Given the description of an element on the screen output the (x, y) to click on. 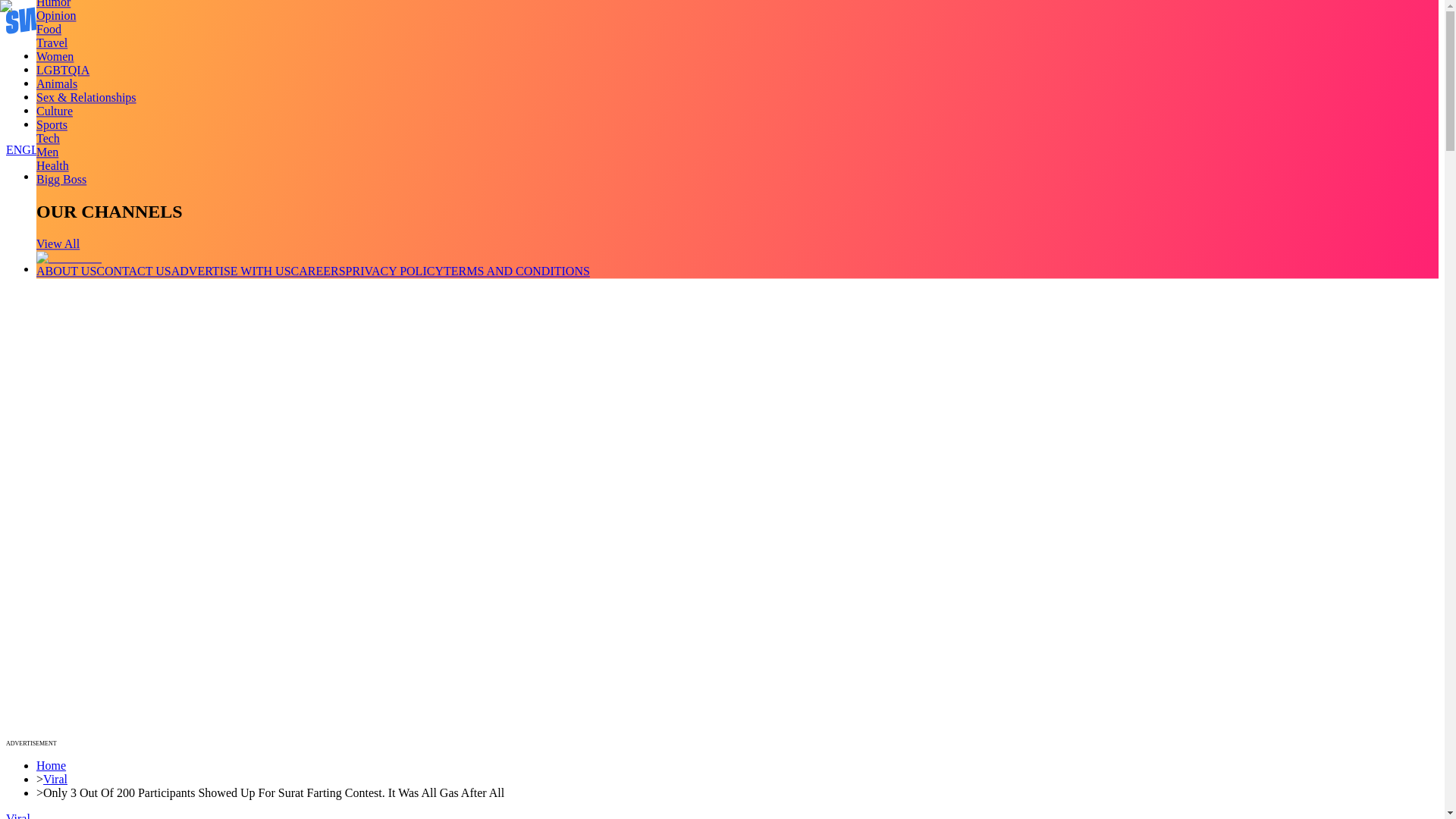
Health (52, 164)
Stories (52, 82)
LGBTQIA (62, 69)
Animals (56, 83)
Trending (58, 55)
Women (55, 56)
Spotlight (58, 123)
ADVERTISE WITH US (231, 270)
Videos (52, 69)
Quizzes (55, 96)
